Given the description of an element on the screen output the (x, y) to click on. 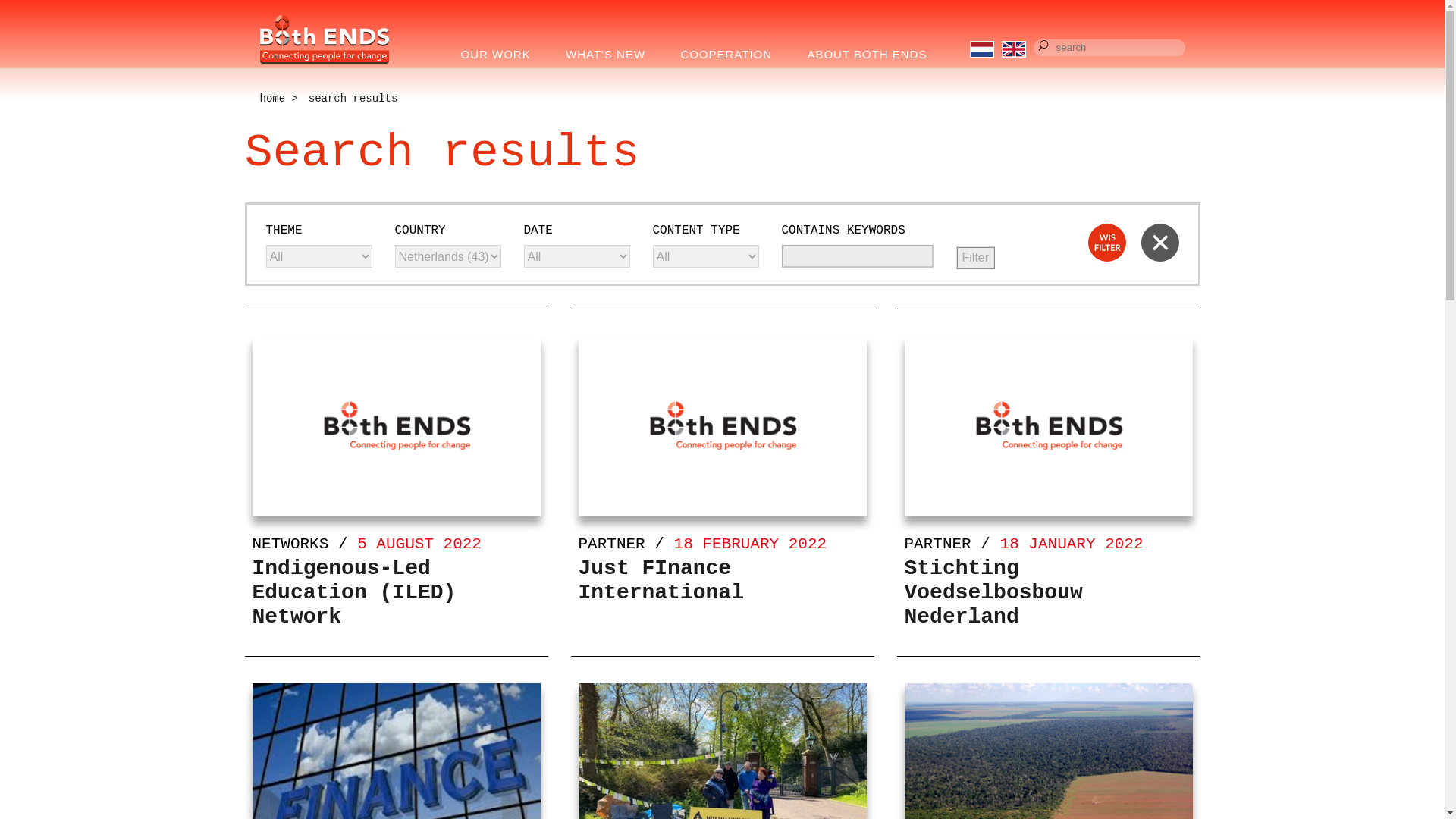
search results (352, 98)
What's new (611, 53)
COOPERATION (731, 53)
home (272, 98)
WHAT'S NEW (611, 53)
Filter (974, 257)
ABOUT BOTH ENDS (871, 53)
OUR WORK (500, 53)
What do we do? (500, 53)
